Given the description of an element on the screen output the (x, y) to click on. 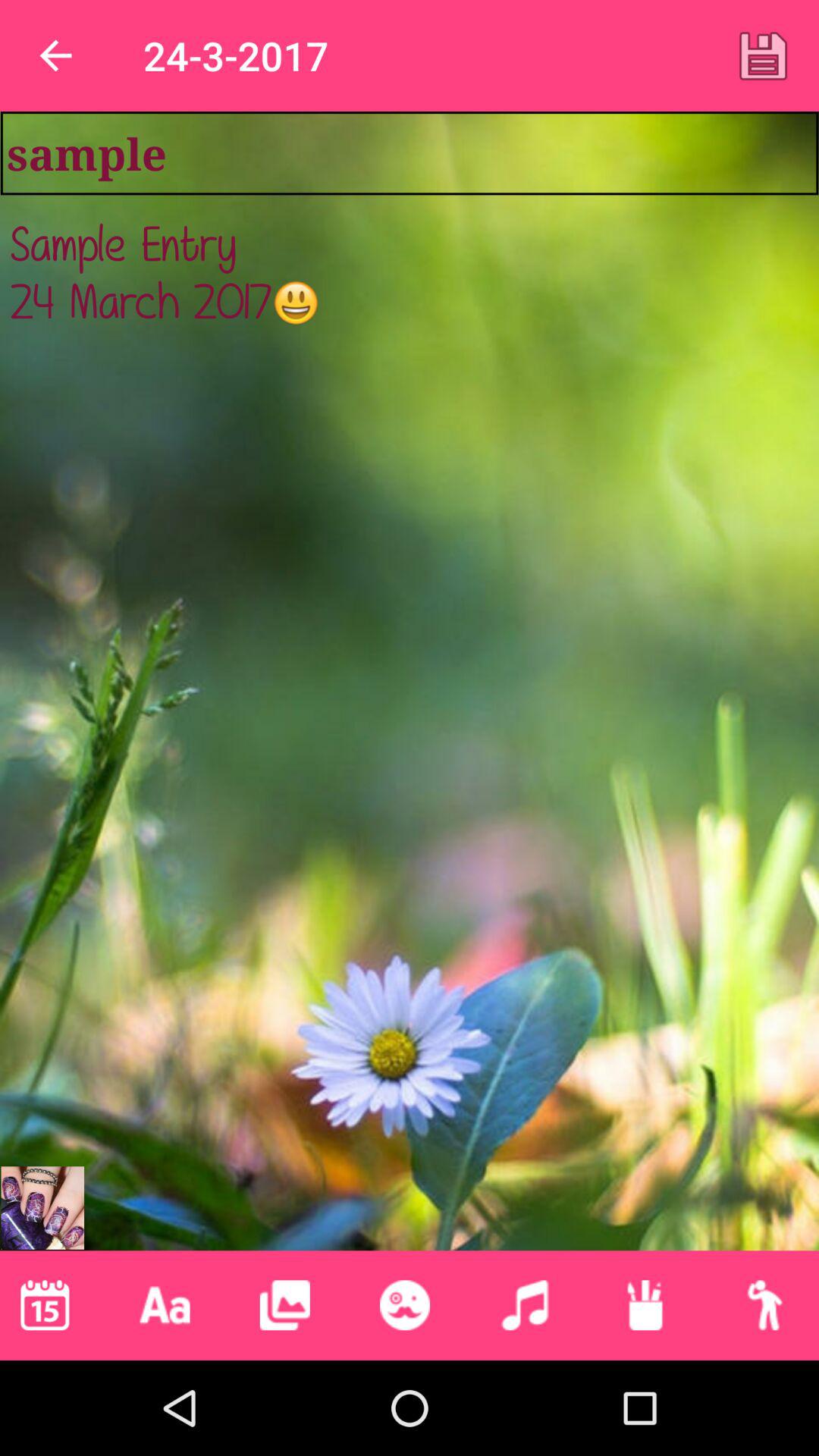
calender option (44, 1305)
